Given the description of an element on the screen output the (x, y) to click on. 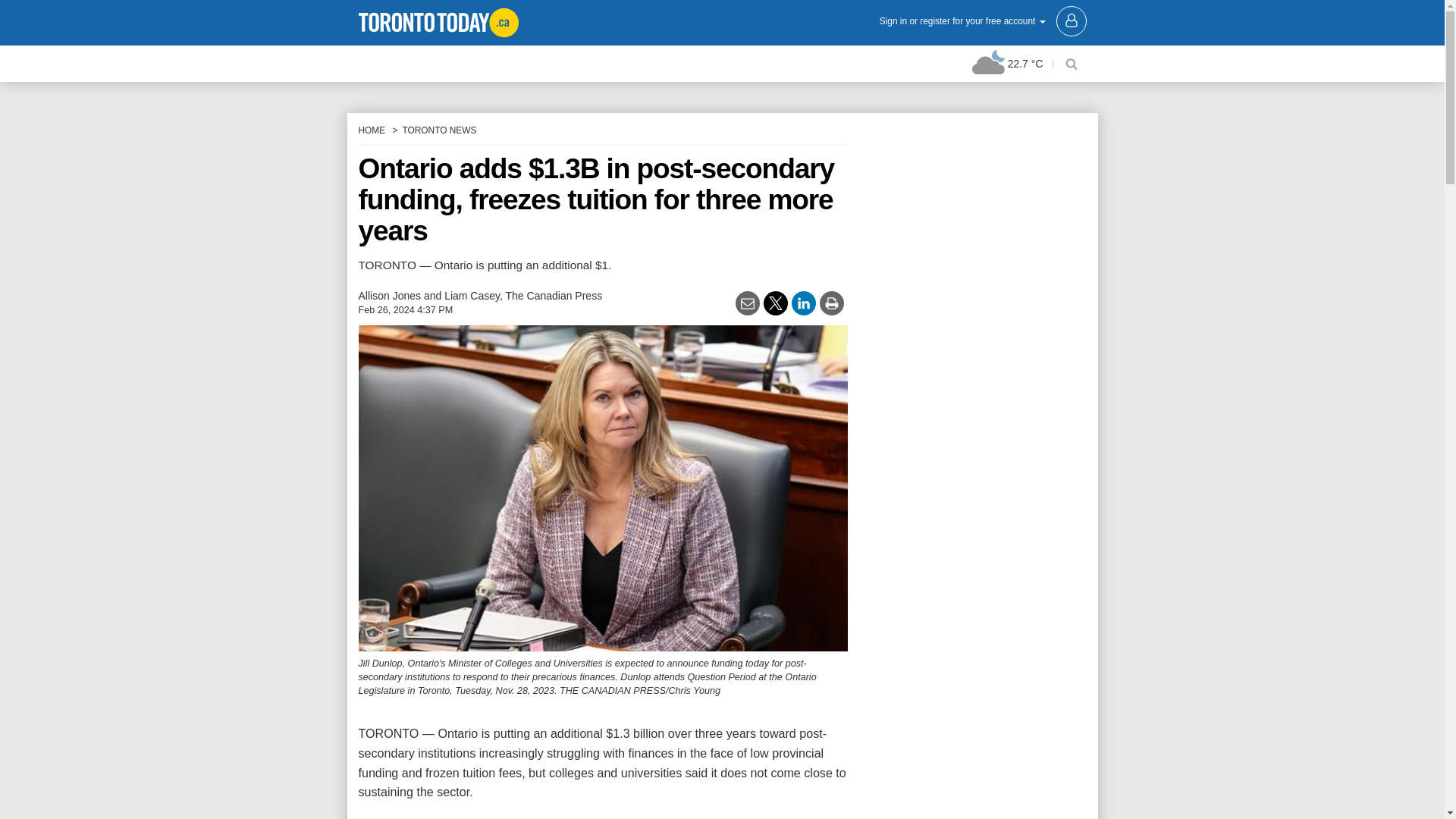
HOME (371, 130)
TORONTO NEWS (438, 130)
Sign in or register for your free account (982, 20)
